Given the description of an element on the screen output the (x, y) to click on. 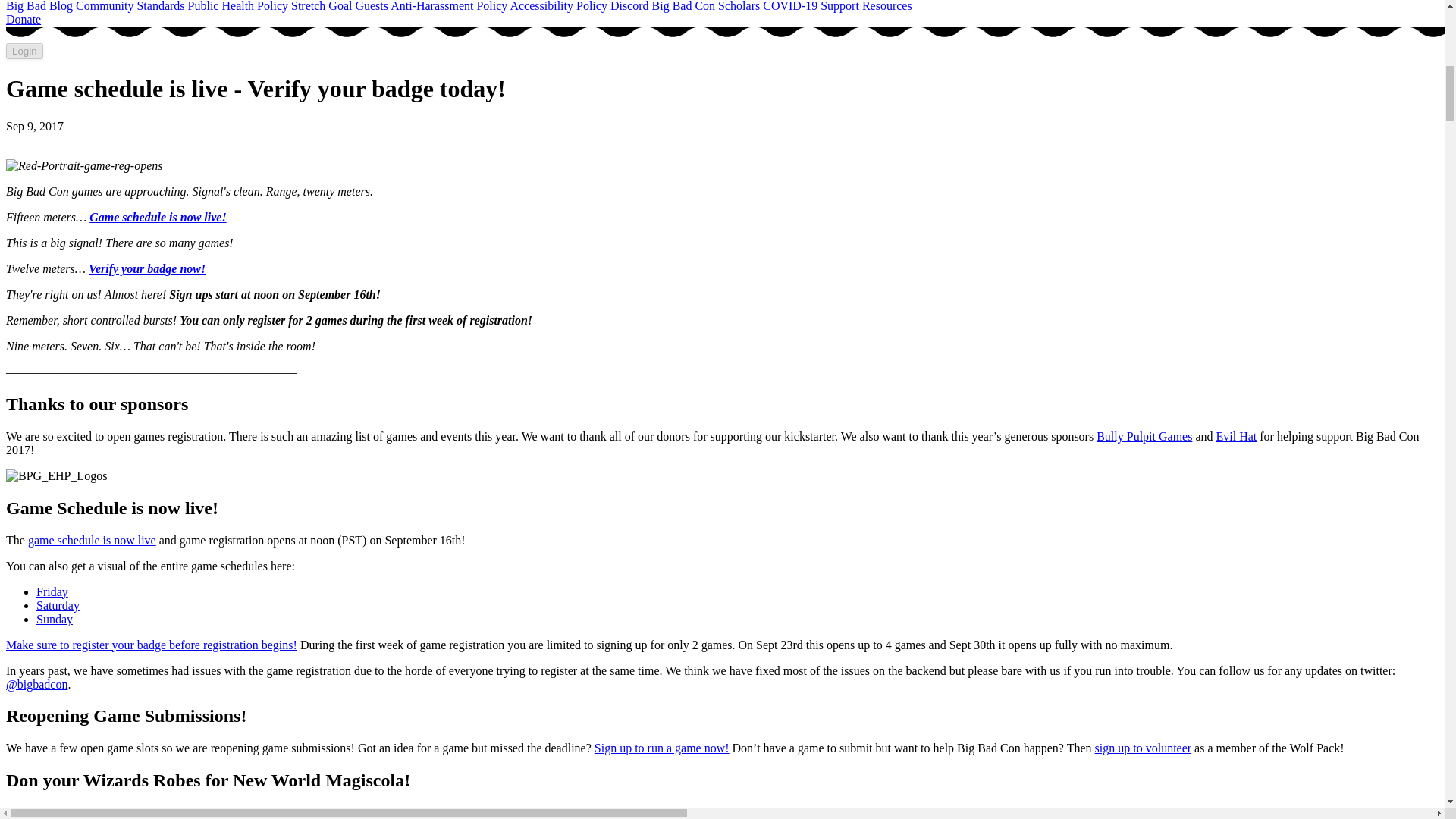
Evil Hat (1236, 436)
Community Standards (129, 6)
Big Bad Blog (38, 6)
Anti-Harassment Policy (448, 6)
Big Bad Con Scholars (706, 6)
COVID-19 Support Resources (836, 6)
Donate (22, 19)
Public Health Policy (237, 6)
Accessibility Policy (558, 6)
Verify your badge now! (146, 268)
